Given the description of an element on the screen output the (x, y) to click on. 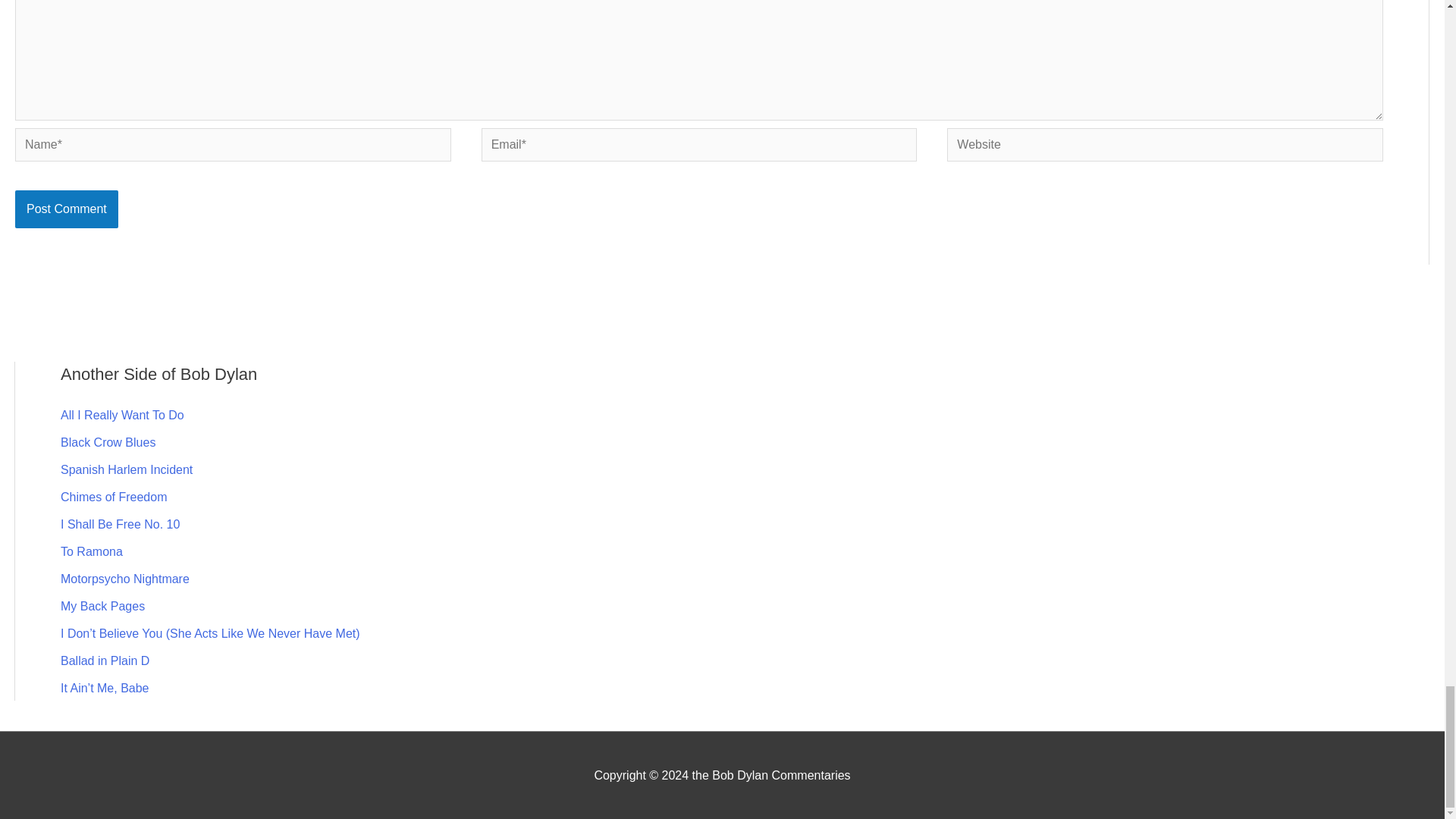
I Shall Be Free No. 10 (120, 522)
Chimes of Freedom (114, 495)
Post Comment (65, 209)
Black Crow Blues (108, 440)
Ballad in Plain D (105, 659)
My Back Pages (102, 604)
To Ramona (91, 550)
Spanish Harlem Incident (126, 468)
All I Really Want To Do (122, 413)
Motorpsycho Nightmare (125, 577)
Post Comment (65, 209)
